Given the description of an element on the screen output the (x, y) to click on. 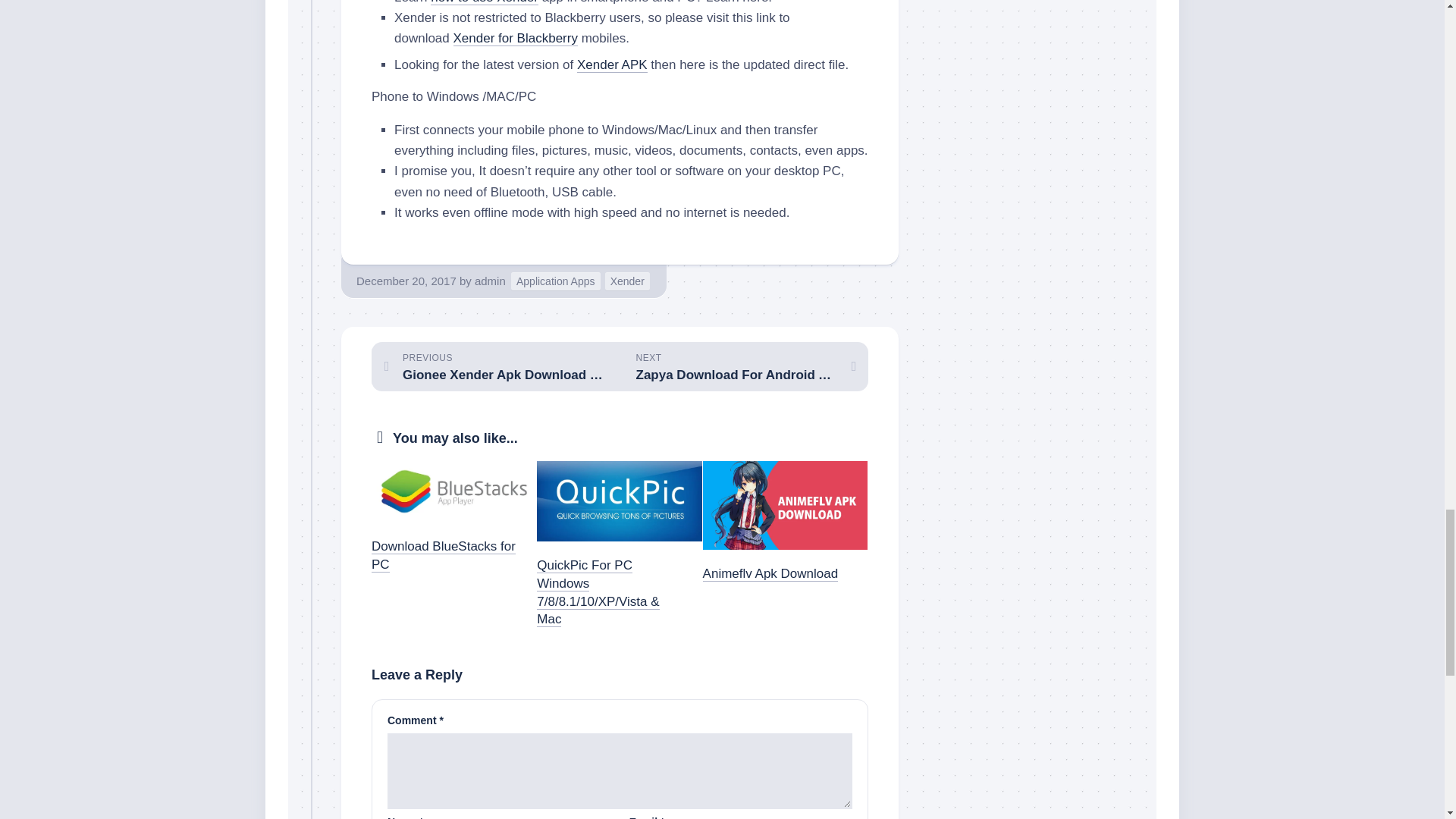
Posts by admin (489, 280)
admin (489, 280)
Xender APK (495, 366)
Application Apps (611, 64)
how to use Xender (555, 281)
Xender for Blackberry (484, 2)
Xender (515, 38)
